Given the description of an element on the screen output the (x, y) to click on. 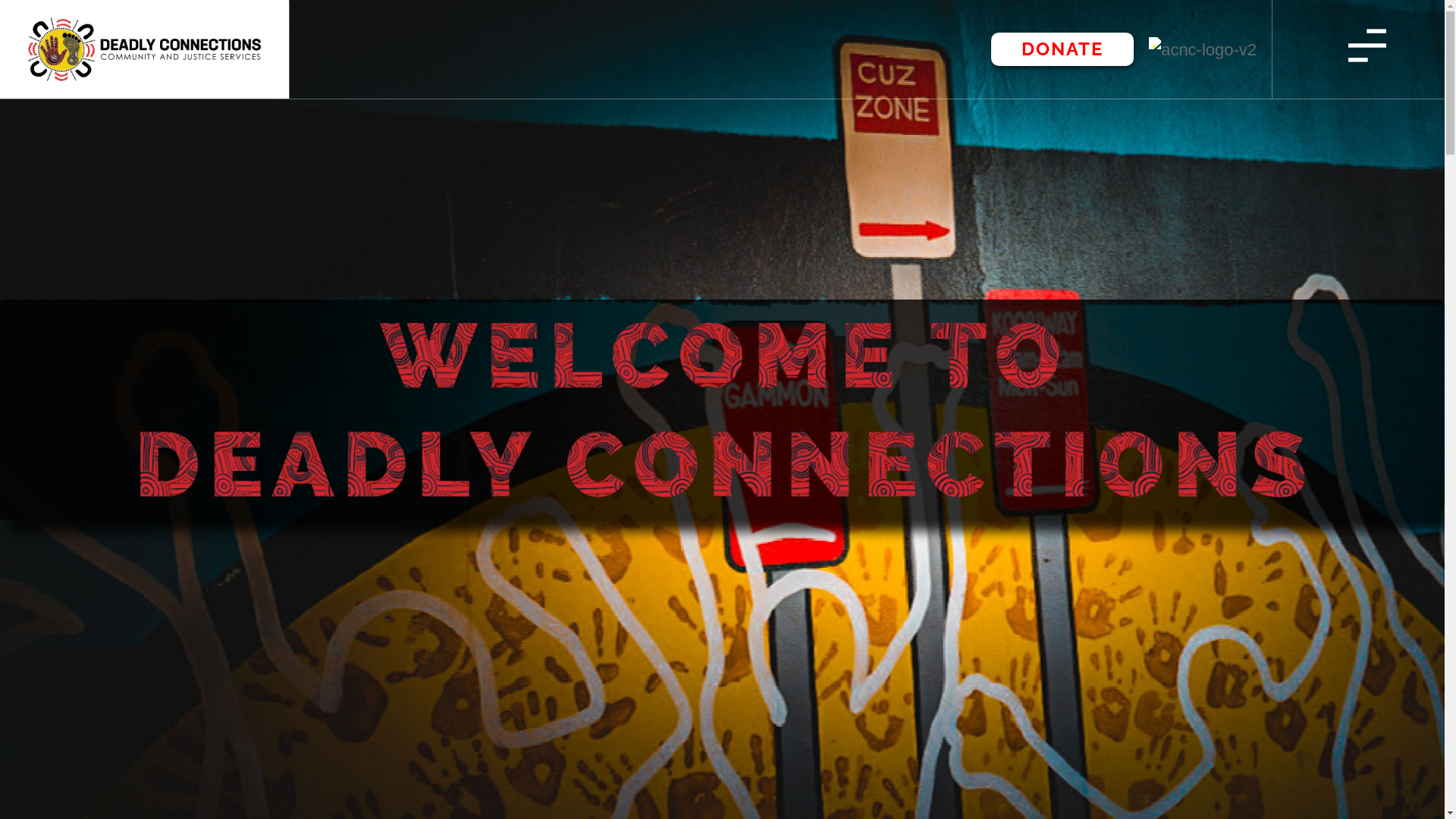
acnc-logo-v2 Element type: hover (1202, 49)
DONATE Element type: text (1062, 48)
